Given the description of an element on the screen output the (x, y) to click on. 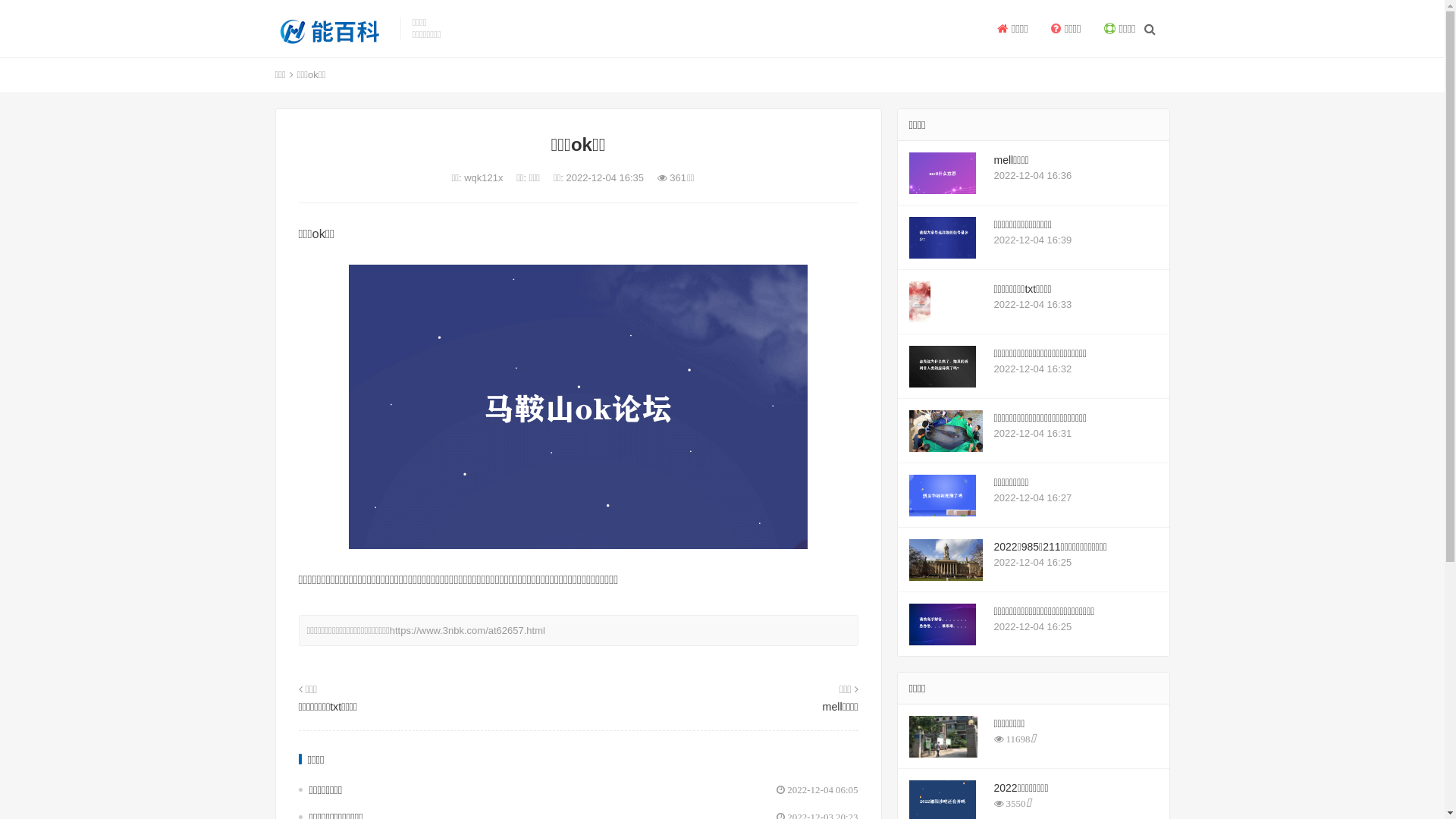
https://www.3nbk.com/at62657.html Element type: text (467, 630)
